Given the description of an element on the screen output the (x, y) to click on. 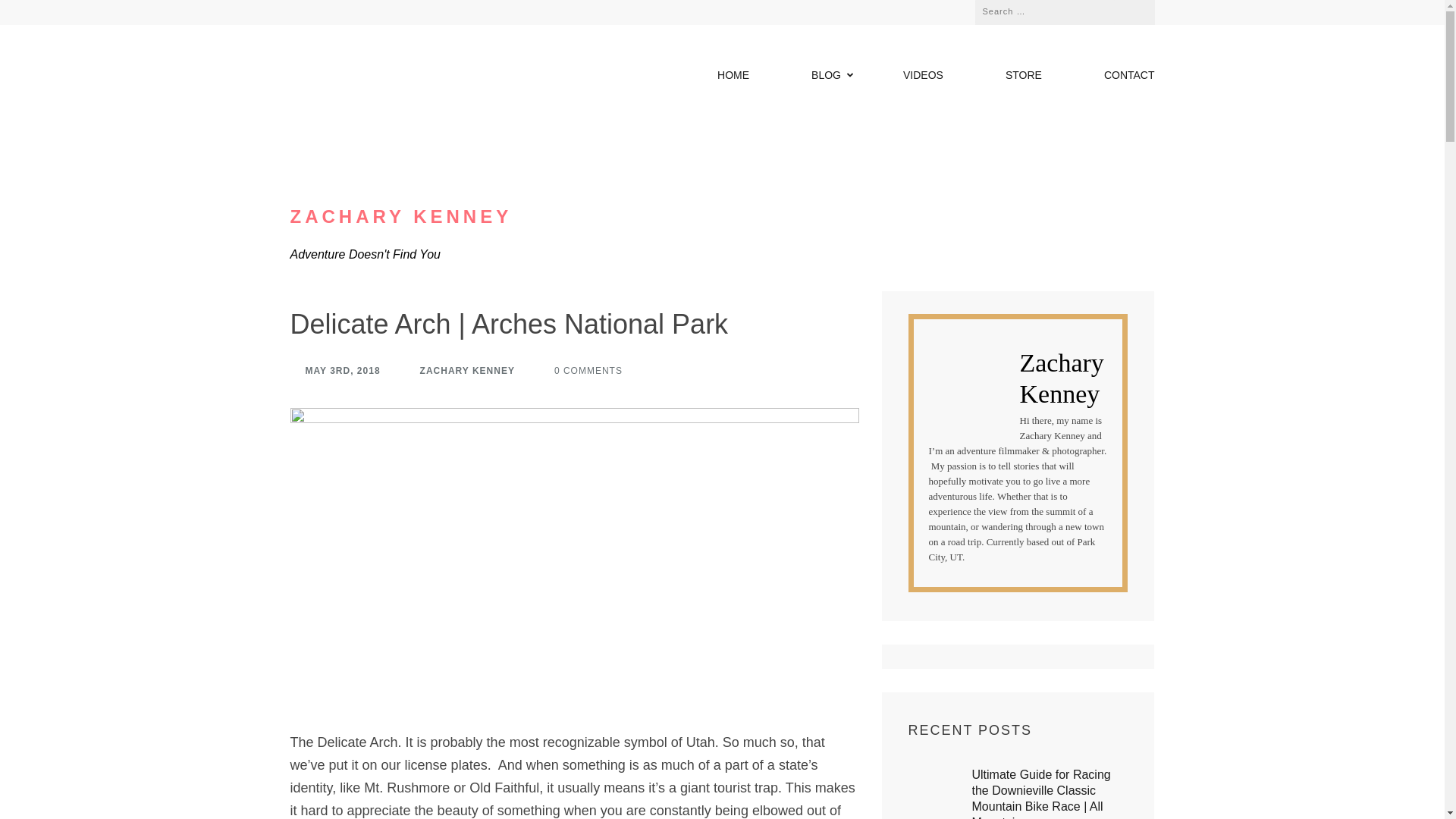
STORE (1024, 78)
MAY 3RD, 2018 (334, 370)
Search (1131, 9)
Search (1131, 9)
0 COMMENTS (580, 370)
VIDEOS (922, 78)
CONTACT (1128, 78)
Search (1131, 9)
BLOG (825, 78)
ZACHARY KENNEY (459, 370)
